Given the description of an element on the screen output the (x, y) to click on. 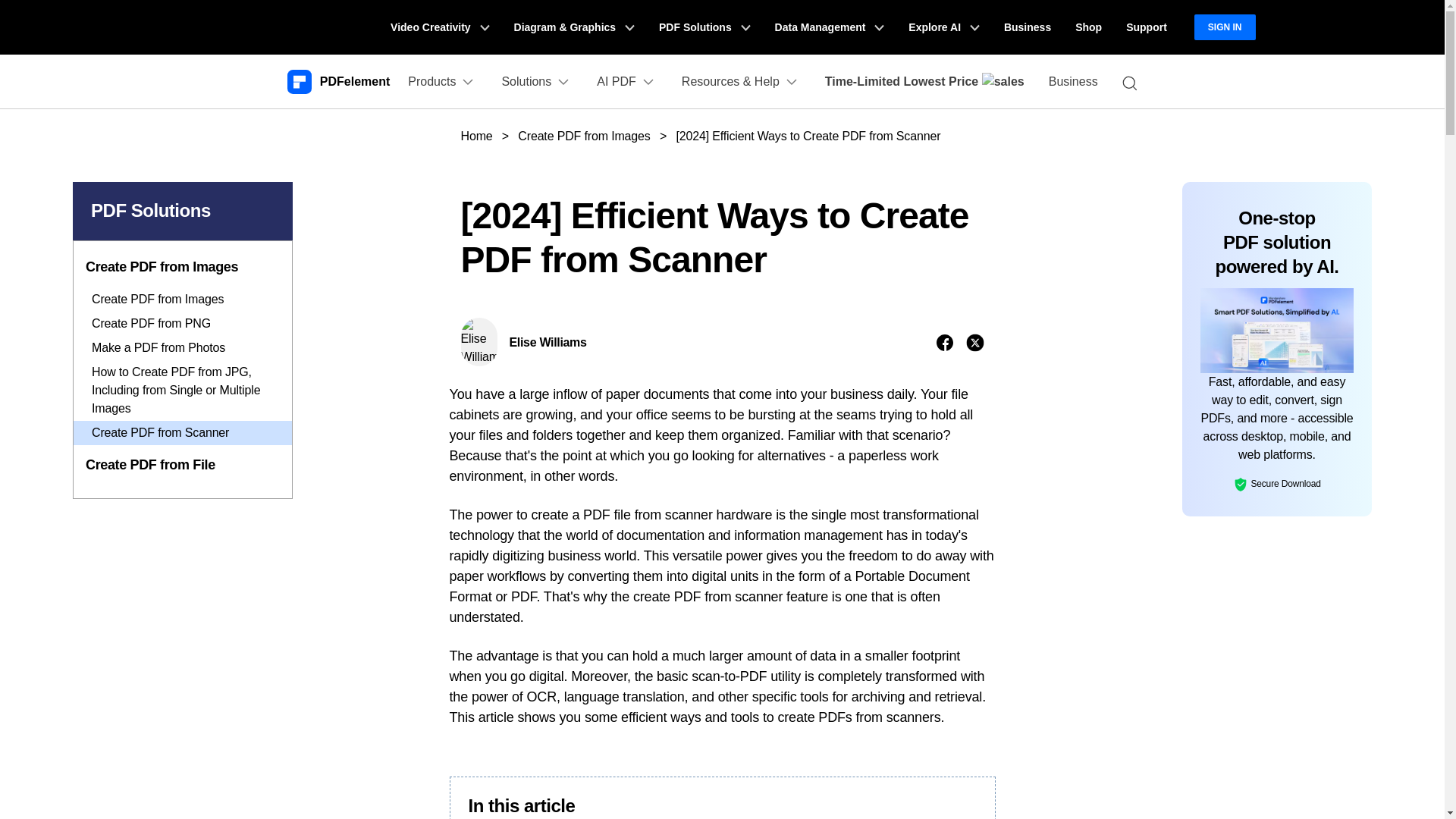
Explore AI (943, 27)
PDF Solutions (704, 27)
Video Creativity (439, 27)
Data Management (829, 27)
